Given the description of an element on the screen output the (x, y) to click on. 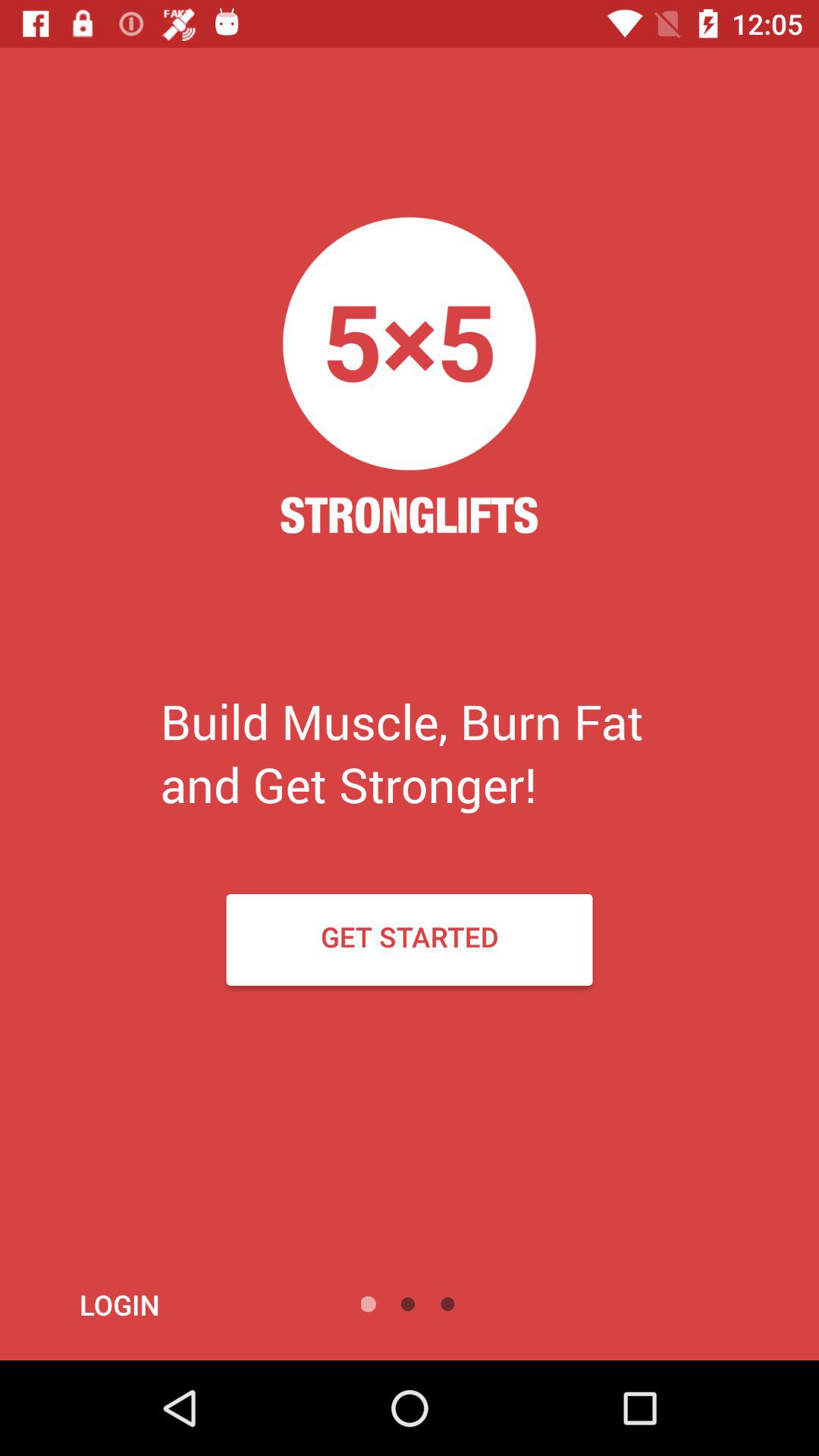
choose item below build muscle burn icon (409, 939)
